Given the description of an element on the screen output the (x, y) to click on. 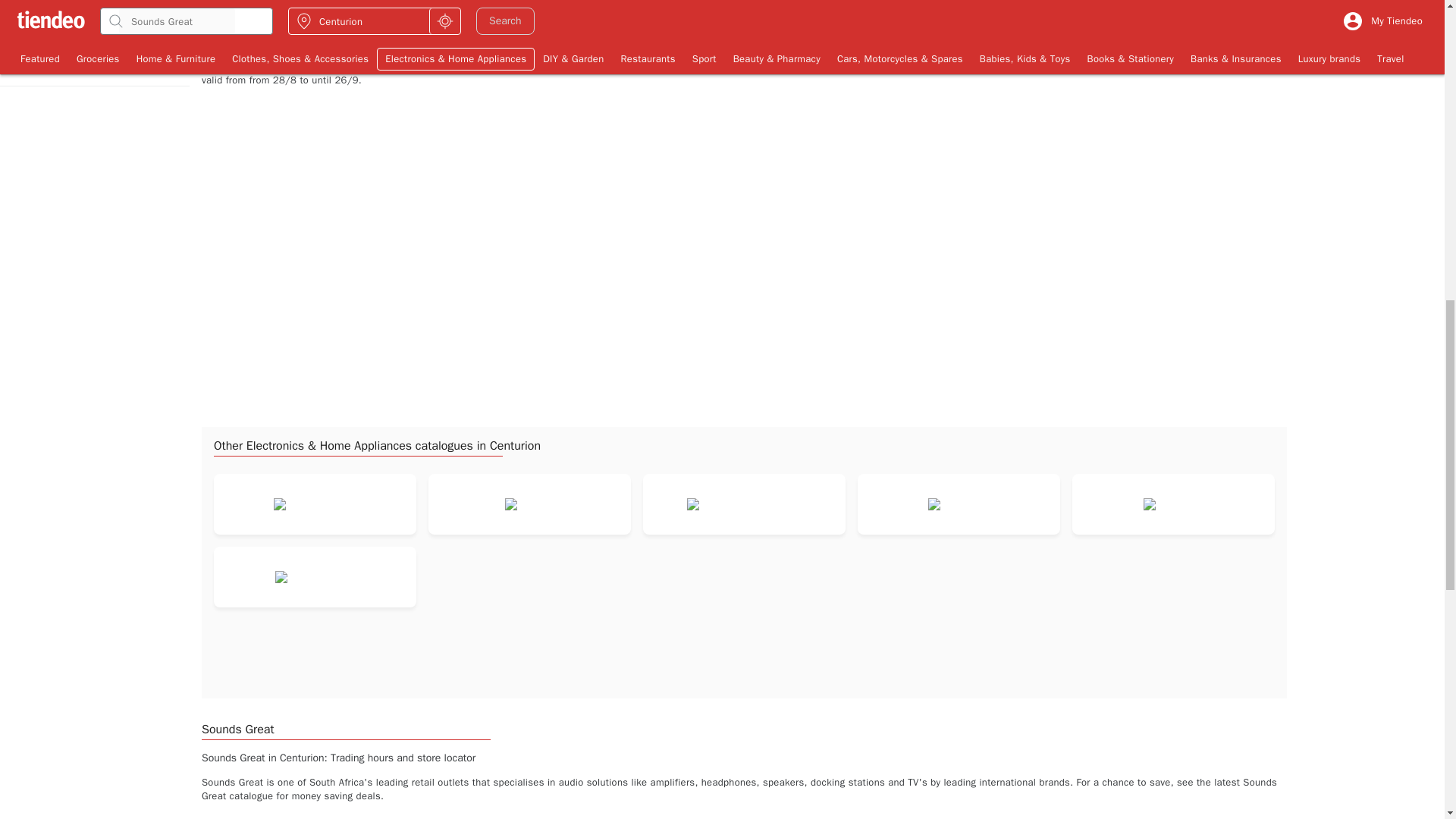
Logo AMC Cookware (315, 576)
Logo Vodacom (1173, 503)
Logo Game (529, 503)
Logo Cash Crusaders (314, 503)
Logo PEP CELL (959, 503)
Logo Adendorff Machinery Mart (744, 503)
